Given the description of an element on the screen output the (x, y) to click on. 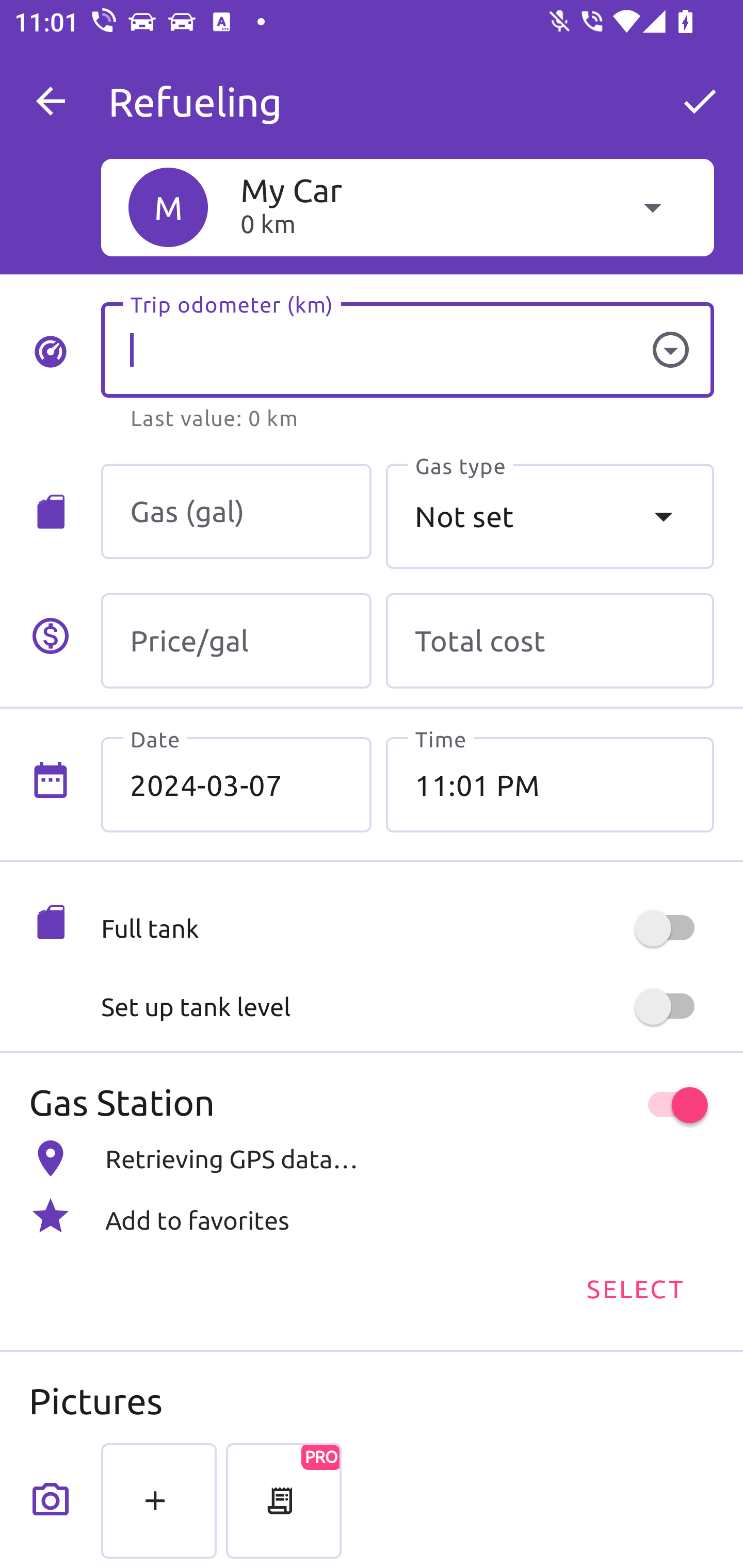
Navigate up (50, 101)
OK (699, 101)
M My Car 0 km (407, 206)
Trip odometer (km) (407, 350)
Odometer (670, 349)
Gas (gal) (236, 511)
Not set (549, 516)
Price/gal (236, 640)
Total cost  (549, 640)
2024-03-07 (236, 784)
11:01 PM (549, 784)
Full tank (407, 928)
Set up tank level (407, 1006)
Add to favorites (371, 1215)
SELECT (634, 1287)
